Given the description of an element on the screen output the (x, y) to click on. 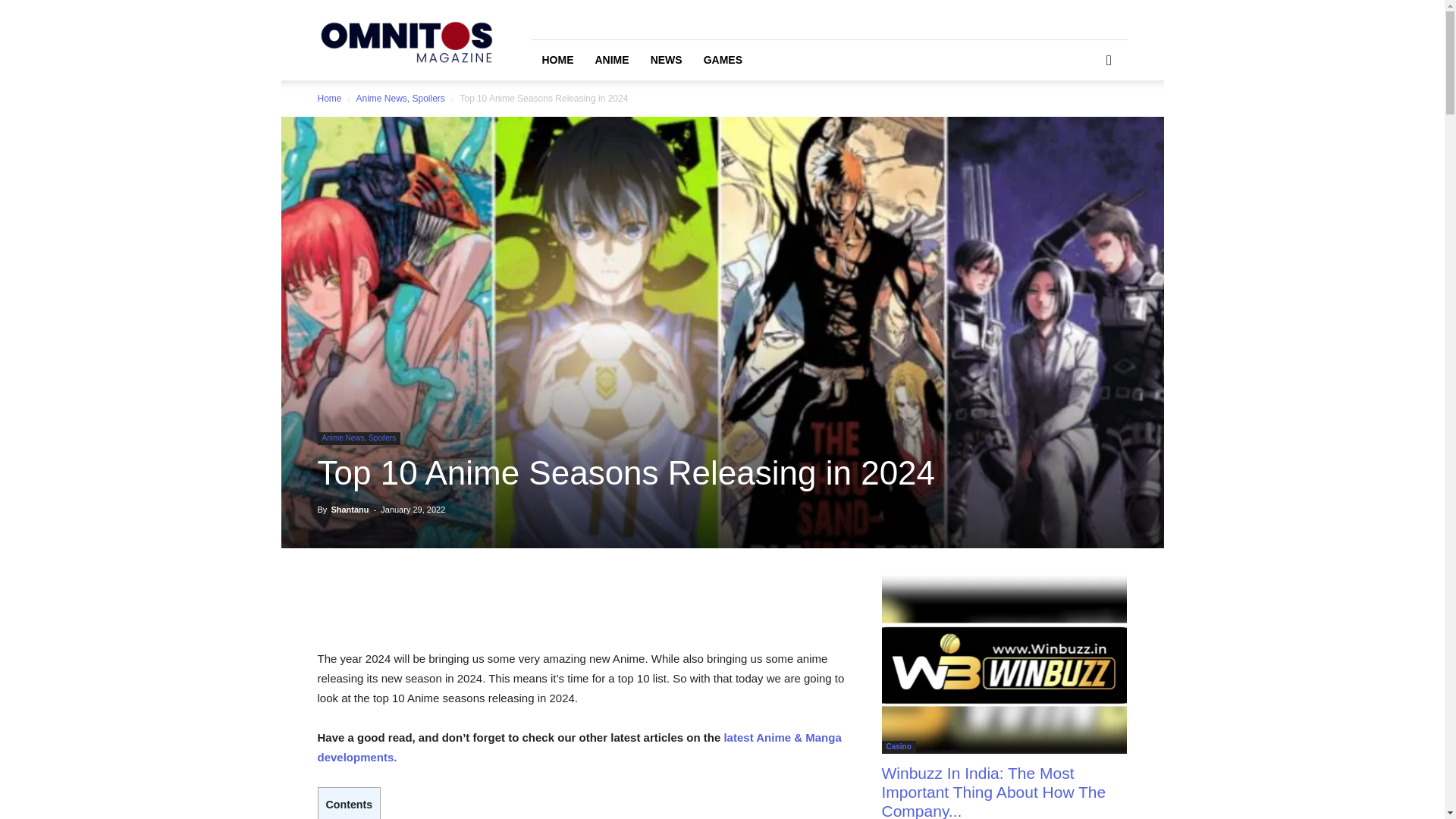
ANIME (611, 60)
HOME (557, 60)
View all posts in Anime News, Spoilers (399, 98)
